Given the description of an element on the screen output the (x, y) to click on. 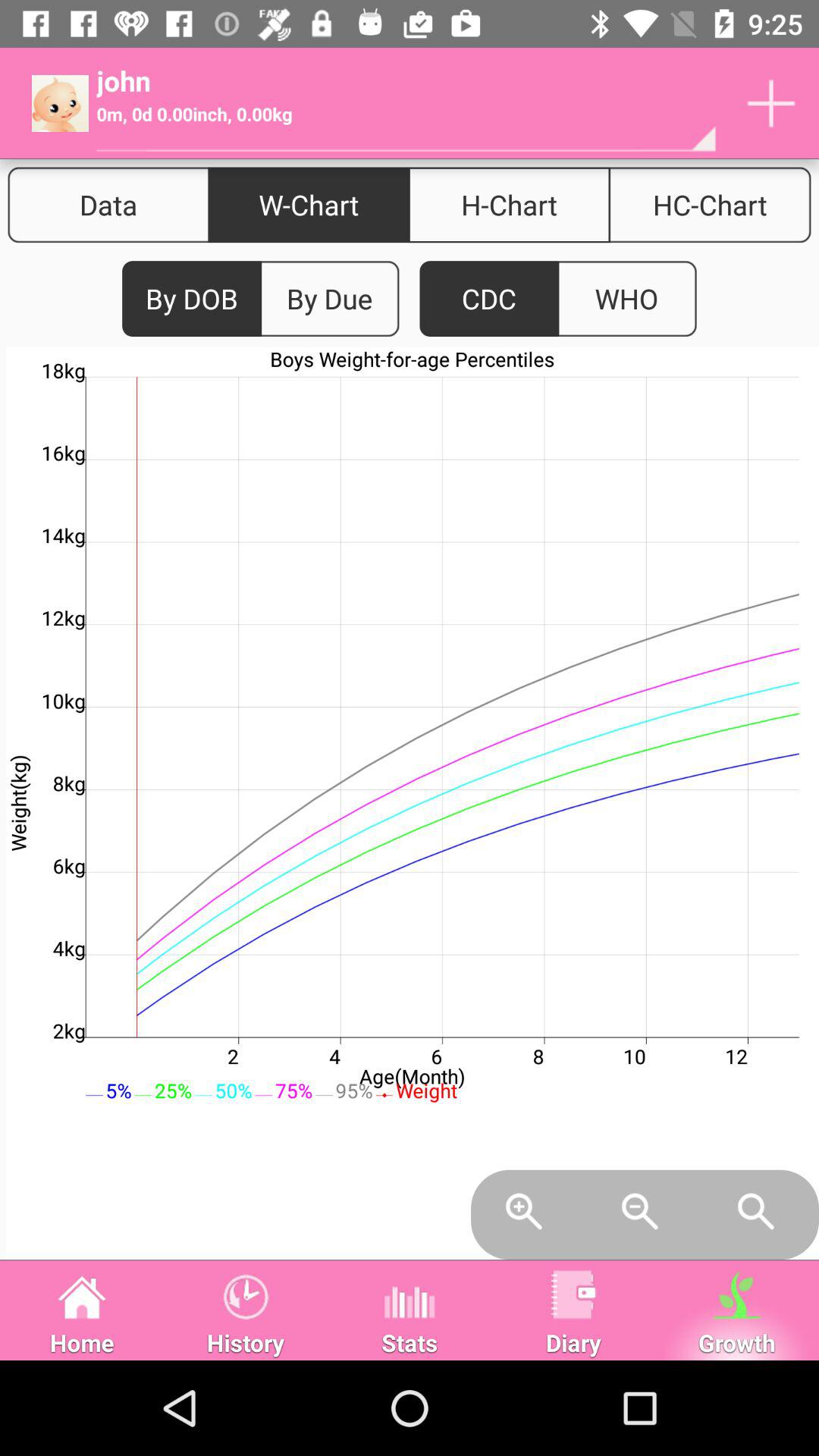
jump until the by dob item (191, 298)
